Given the description of an element on the screen output the (x, y) to click on. 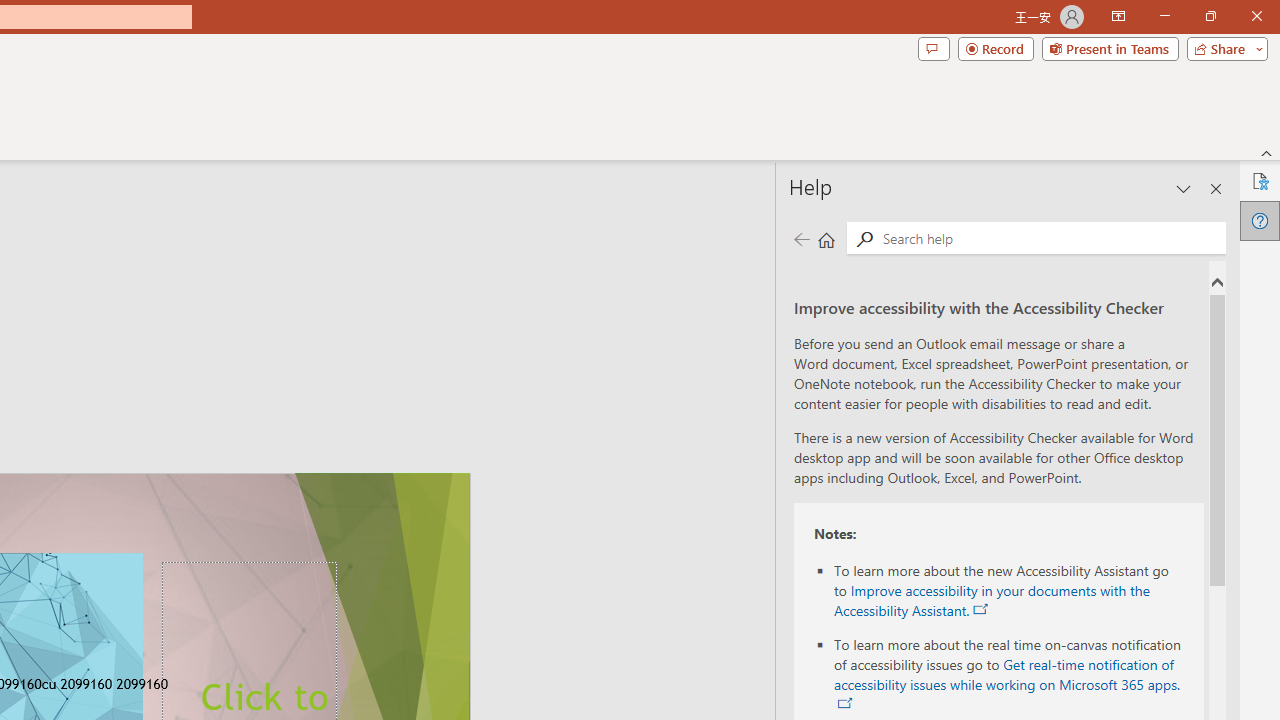
Previous page (801, 238)
